Given the description of an element on the screen output the (x, y) to click on. 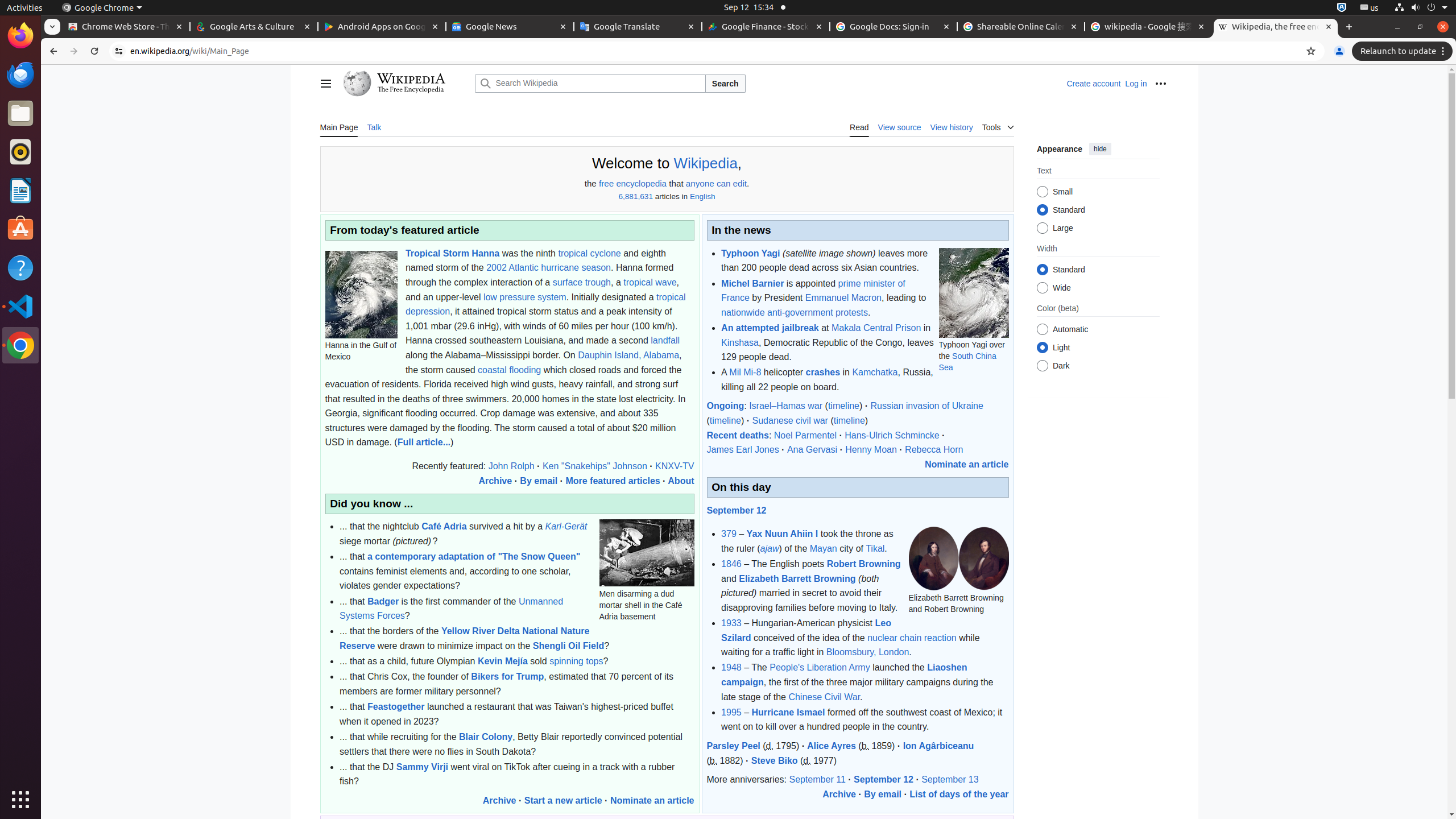
Recent deaths Element type: link (737, 434)
6,881,631 Element type: link (635, 196)
View history Element type: link (951, 126)
September 11 Element type: link (816, 779)
